Given the description of an element on the screen output the (x, y) to click on. 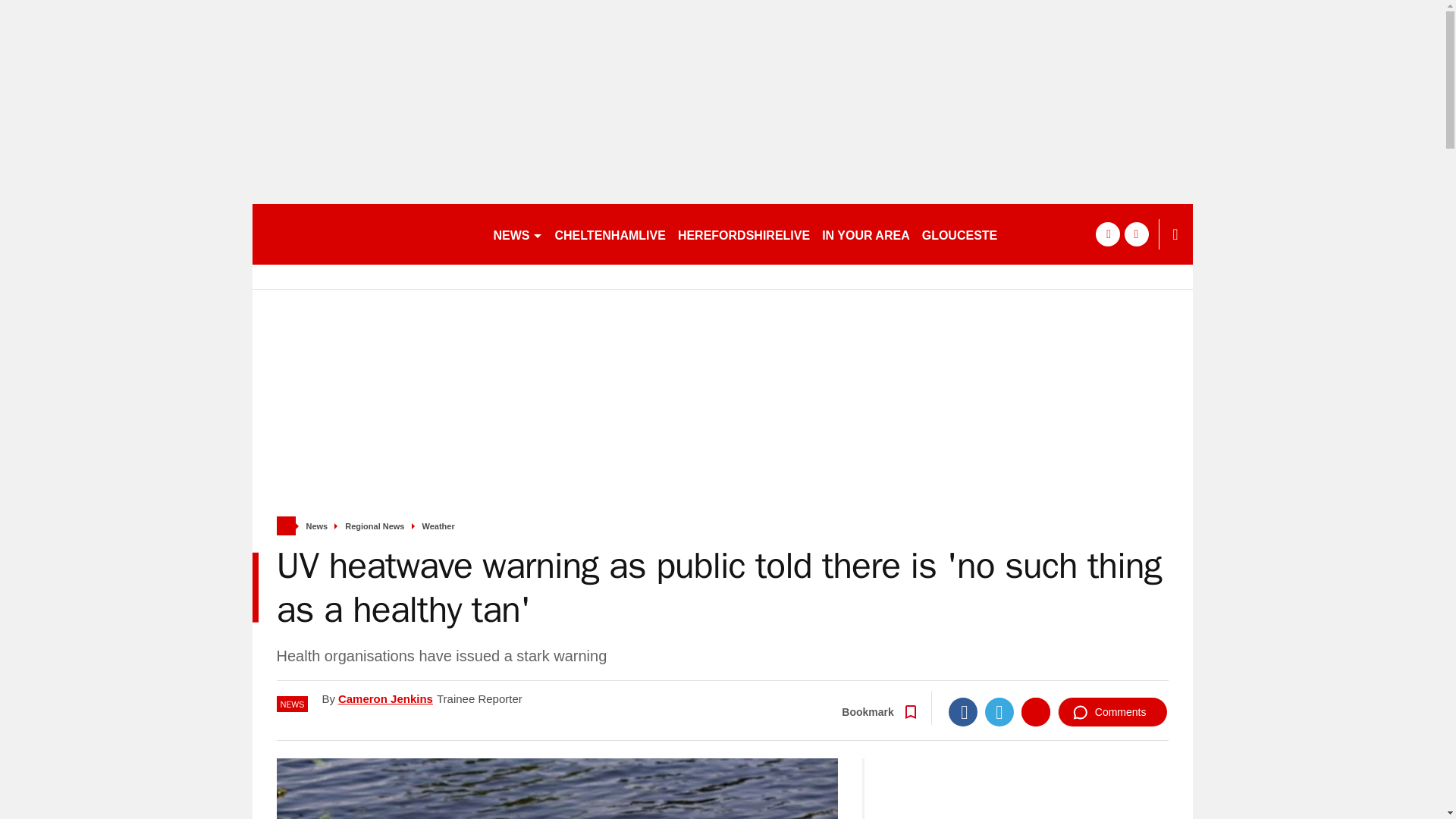
Comments (1112, 711)
twitter (1136, 233)
GLOUCESTER NEWS (983, 233)
NEWS (517, 233)
IN YOUR AREA (865, 233)
Twitter (999, 711)
CHELTENHAMLIVE (609, 233)
facebook (1106, 233)
HEREFORDSHIRELIVE (743, 233)
gloucestershirelive (365, 233)
Facebook (962, 711)
